Given the description of an element on the screen output the (x, y) to click on. 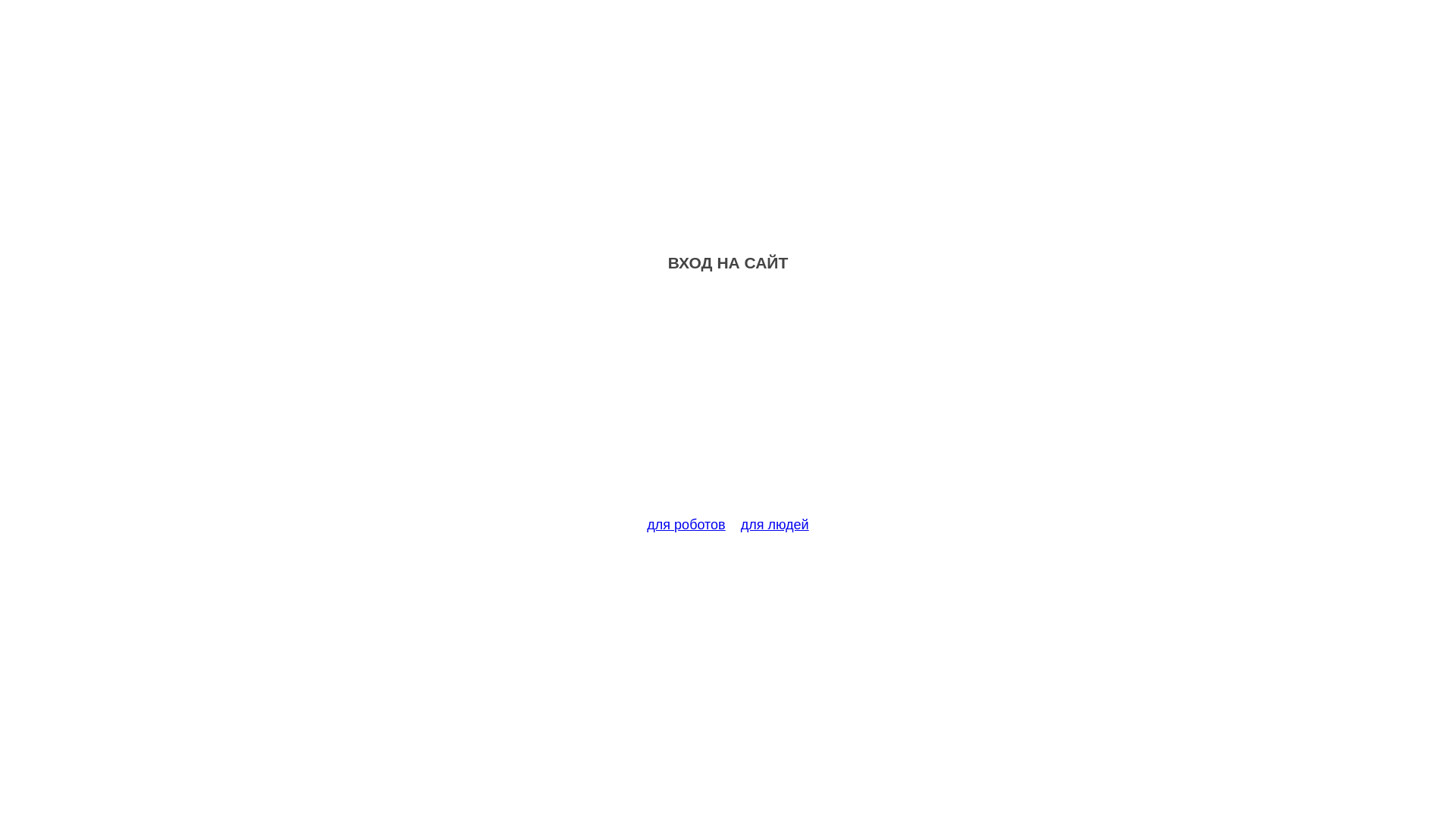
Advertisement Element type: hover (727, 403)
